Given the description of an element on the screen output the (x, y) to click on. 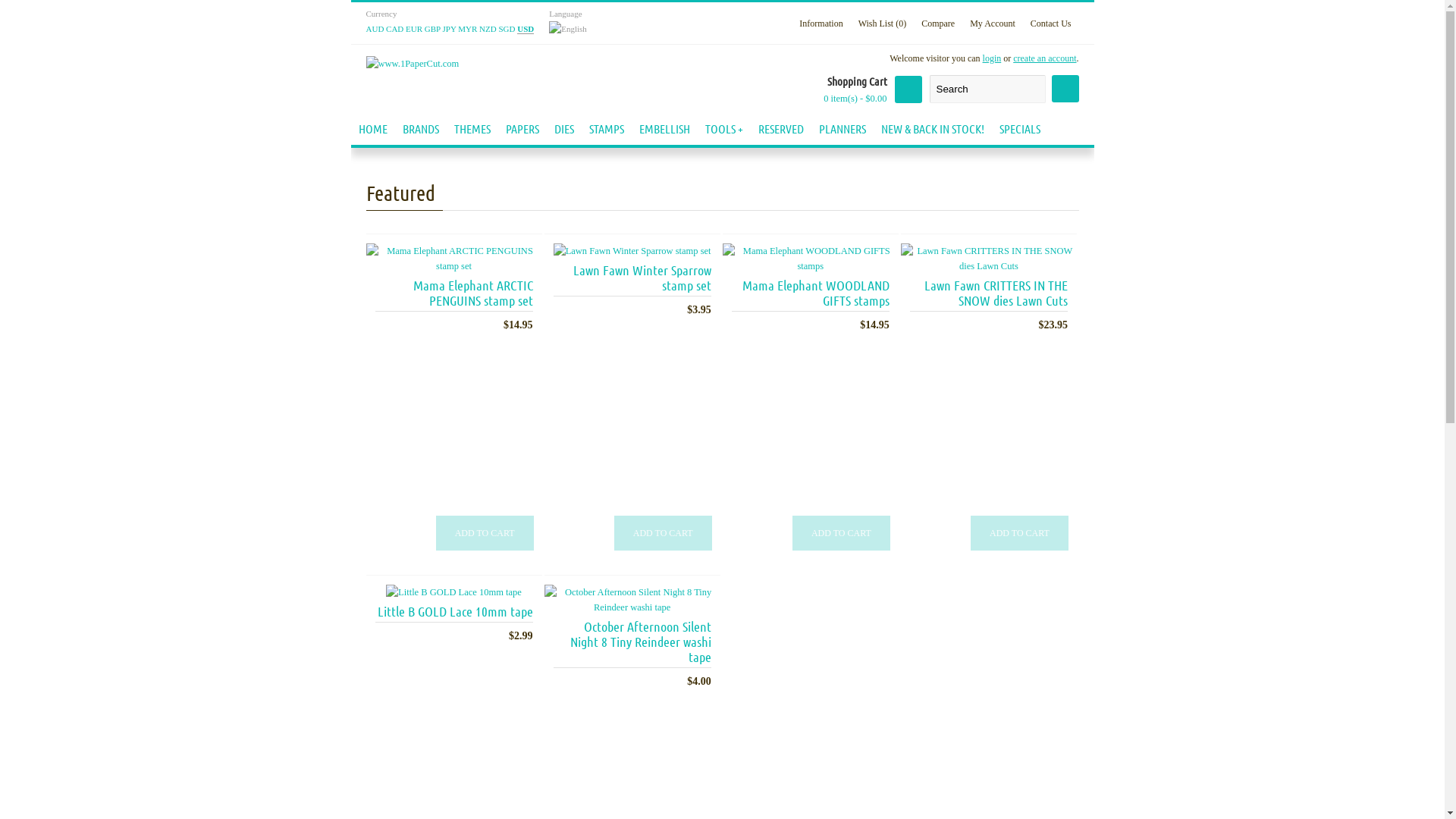
MYR Element type: text (467, 28)
NZD Element type: text (487, 28)
My Account Element type: text (992, 24)
October Afternoon Silent Night 8 Tiny Reindeer washi tape Element type: text (632, 641)
ADD TO CART Element type: text (484, 532)
Compare Element type: text (937, 24)
JPY Element type: text (449, 28)
AUD Element type: text (374, 28)
Wish List (0) Element type: text (882, 24)
create an account Element type: text (1044, 58)
EUR Element type: text (413, 28)
PAPERS Element type: text (521, 128)
NEW & BACK IN STOCK! Element type: text (932, 128)
BRANDS Element type: text (419, 128)
English Element type: hover (567, 28)
TOOLS + Element type: text (723, 128)
Little B GOLD Lace 10mm tape Element type: text (453, 610)
EMBELLISH Element type: text (663, 128)
PLANNERS Element type: text (842, 128)
Mama Elephant ARCTIC PENGUINS stamp set Element type: text (453, 292)
DIES Element type: text (563, 128)
www.1PaperCut.com Element type: hover (411, 63)
CAD Element type: text (394, 28)
STAMPS Element type: text (605, 128)
0 item(s) - $0.00 Element type: text (854, 98)
login Element type: text (991, 58)
GBP Element type: text (432, 28)
RESERVED Element type: text (780, 128)
THEMES Element type: text (471, 128)
HOME Element type: text (372, 128)
Contact Us Element type: text (1050, 24)
Mama Elephant WOODLAND GIFTS stamps Element type: text (810, 292)
Information Element type: text (820, 24)
ADD TO CART Element type: text (663, 532)
Search Element type: text (987, 89)
Lawn Fawn CRITTERS IN THE SNOW dies Lawn Cuts Element type: text (988, 292)
SPECIALS Element type: text (1019, 128)
ADD TO CART Element type: text (1019, 532)
SGD Element type: text (506, 28)
USD Element type: text (525, 29)
Lawn Fawn Winter Sparrow stamp set Element type: text (632, 277)
ADD TO CART Element type: text (841, 532)
